Given the description of an element on the screen output the (x, y) to click on. 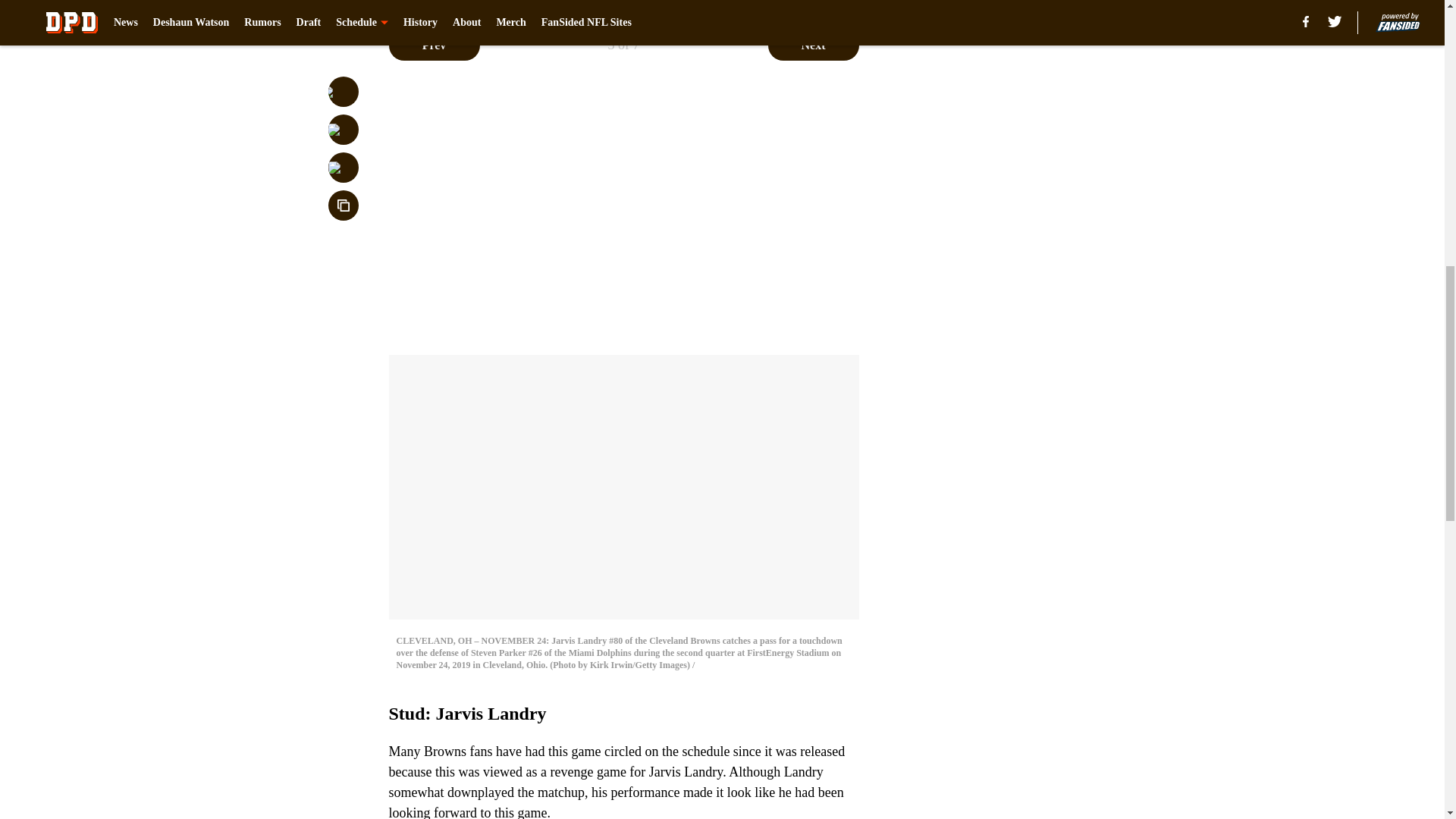
Prev (433, 45)
Next (813, 45)
